Given the description of an element on the screen output the (x, y) to click on. 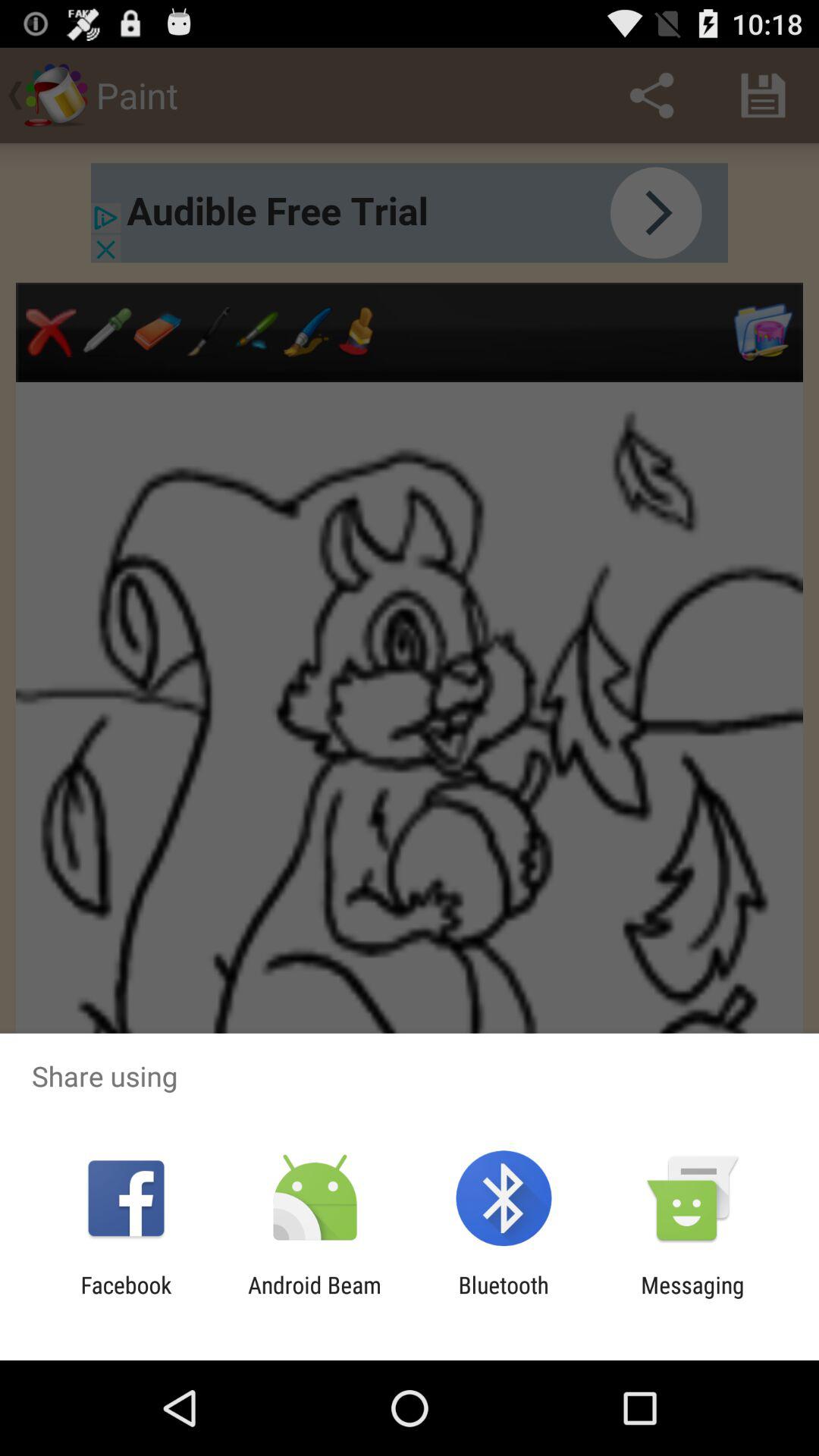
swipe until the android beam icon (314, 1298)
